Given the description of an element on the screen output the (x, y) to click on. 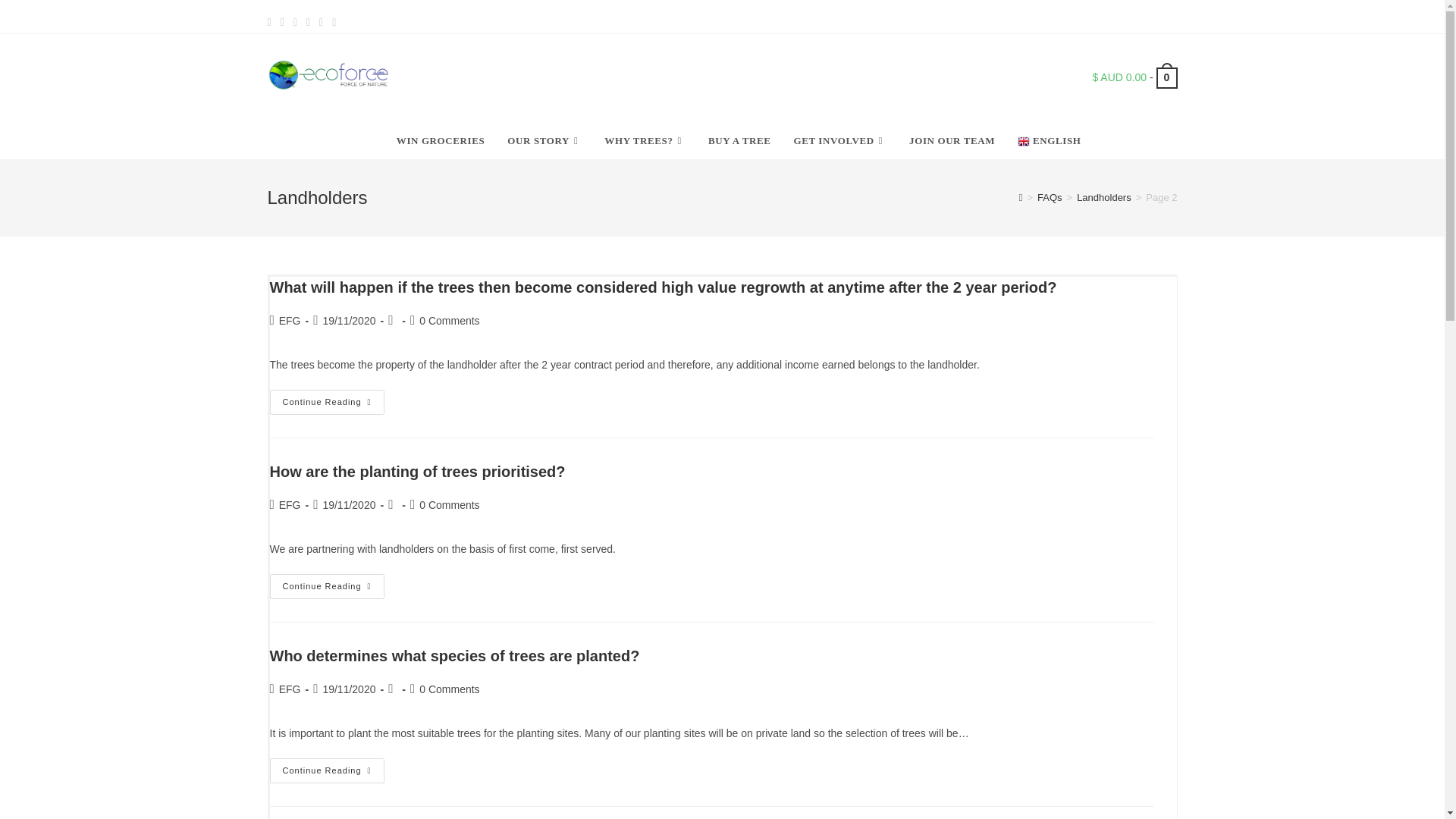
Posts by EFG (290, 320)
GET INVOLVED (839, 140)
Login (1099, 16)
WHY TREES? (644, 140)
WIN GROCERIES (440, 140)
Posts by EFG (290, 689)
Account (1132, 17)
OUR STORY (544, 140)
Posts by EFG (290, 504)
BUY A TREE (740, 140)
